Given the description of an element on the screen output the (x, y) to click on. 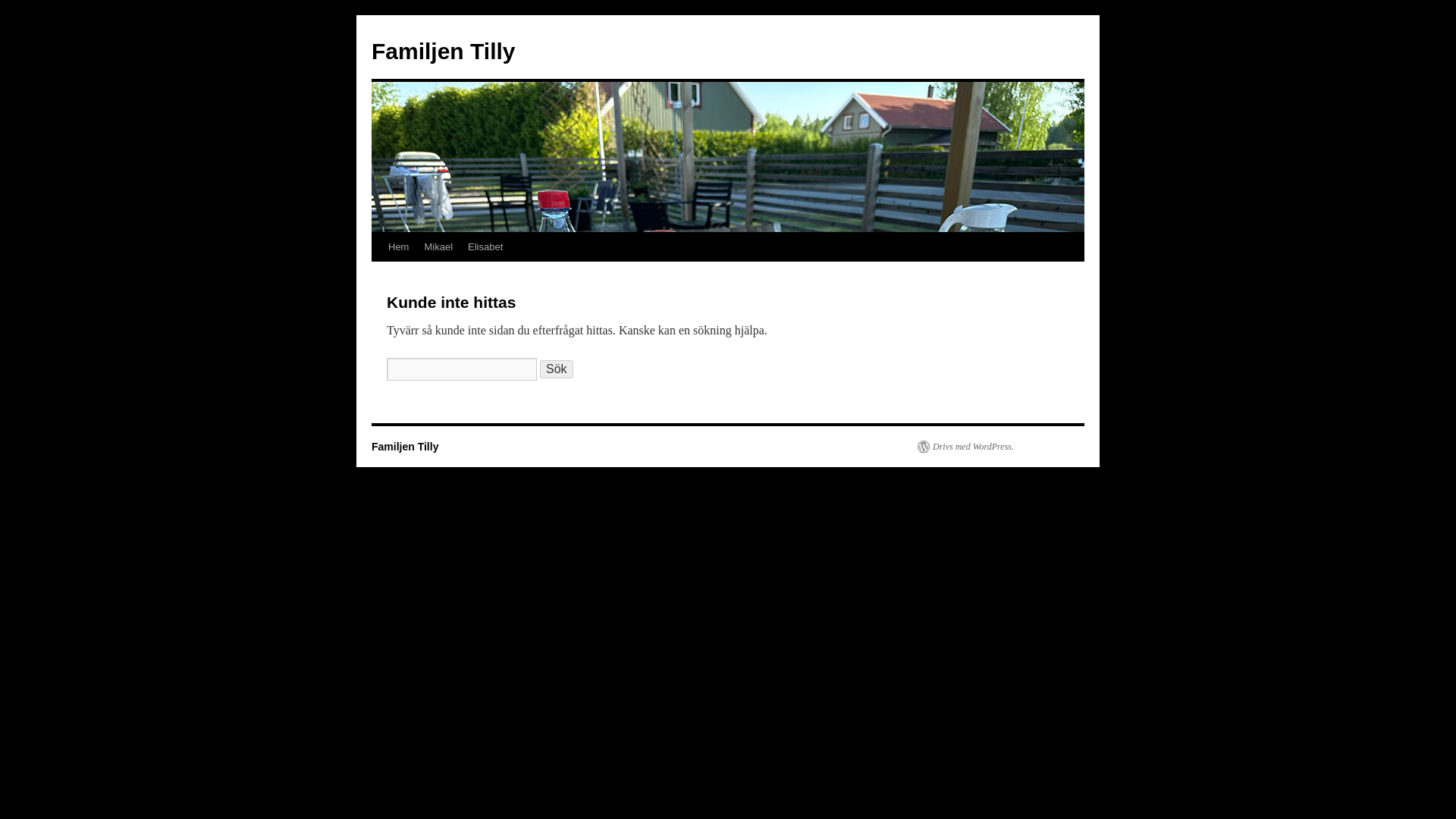
Familjen Tilly (443, 50)
Mikael (438, 246)
Elisabet (485, 246)
Hem (398, 246)
